Given the description of an element on the screen output the (x, y) to click on. 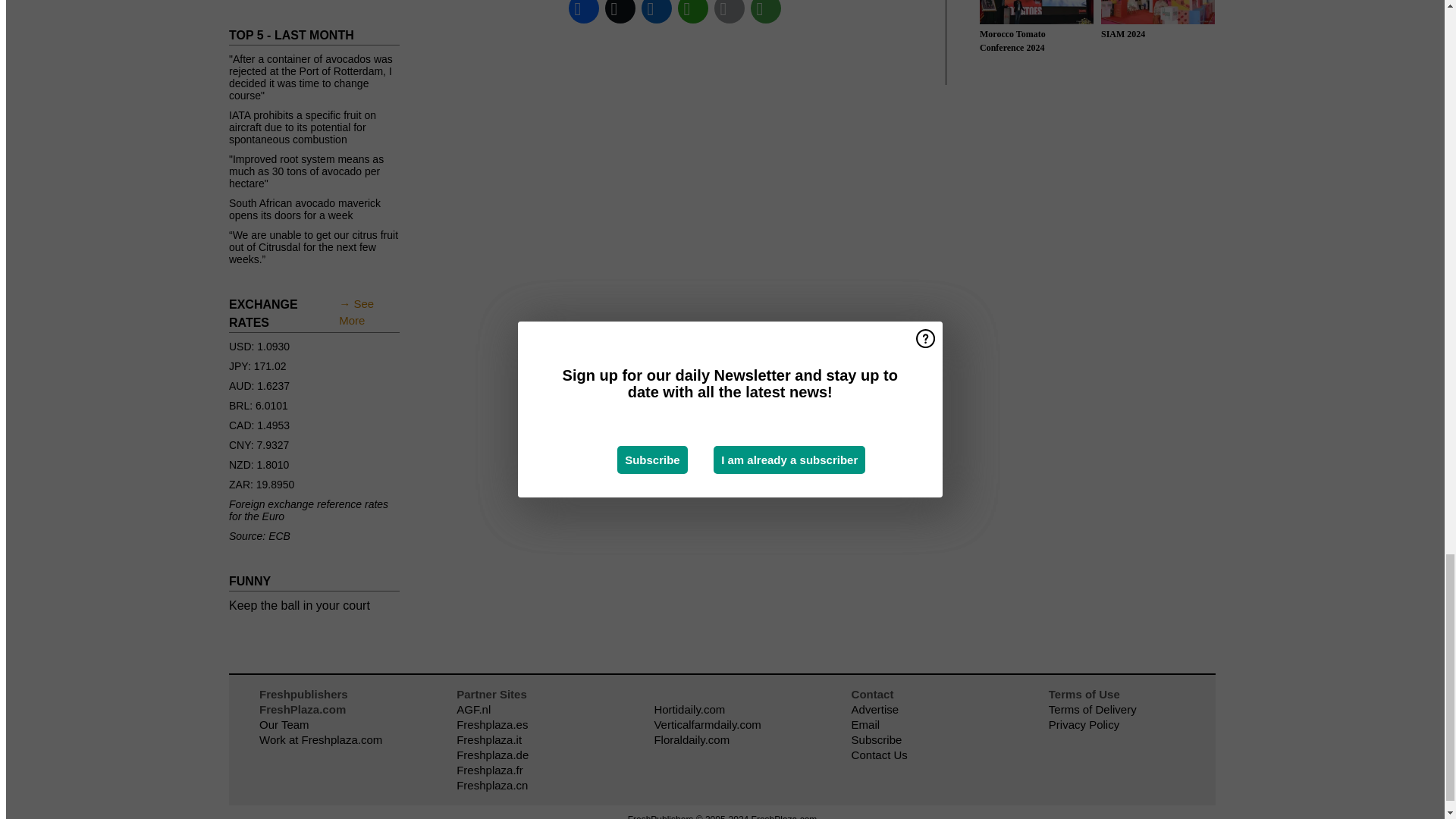
Facebook (584, 13)
LinkedIn (657, 13)
Email This (729, 13)
More Options (766, 13)
WhatsApp (693, 13)
